Given the description of an element on the screen output the (x, y) to click on. 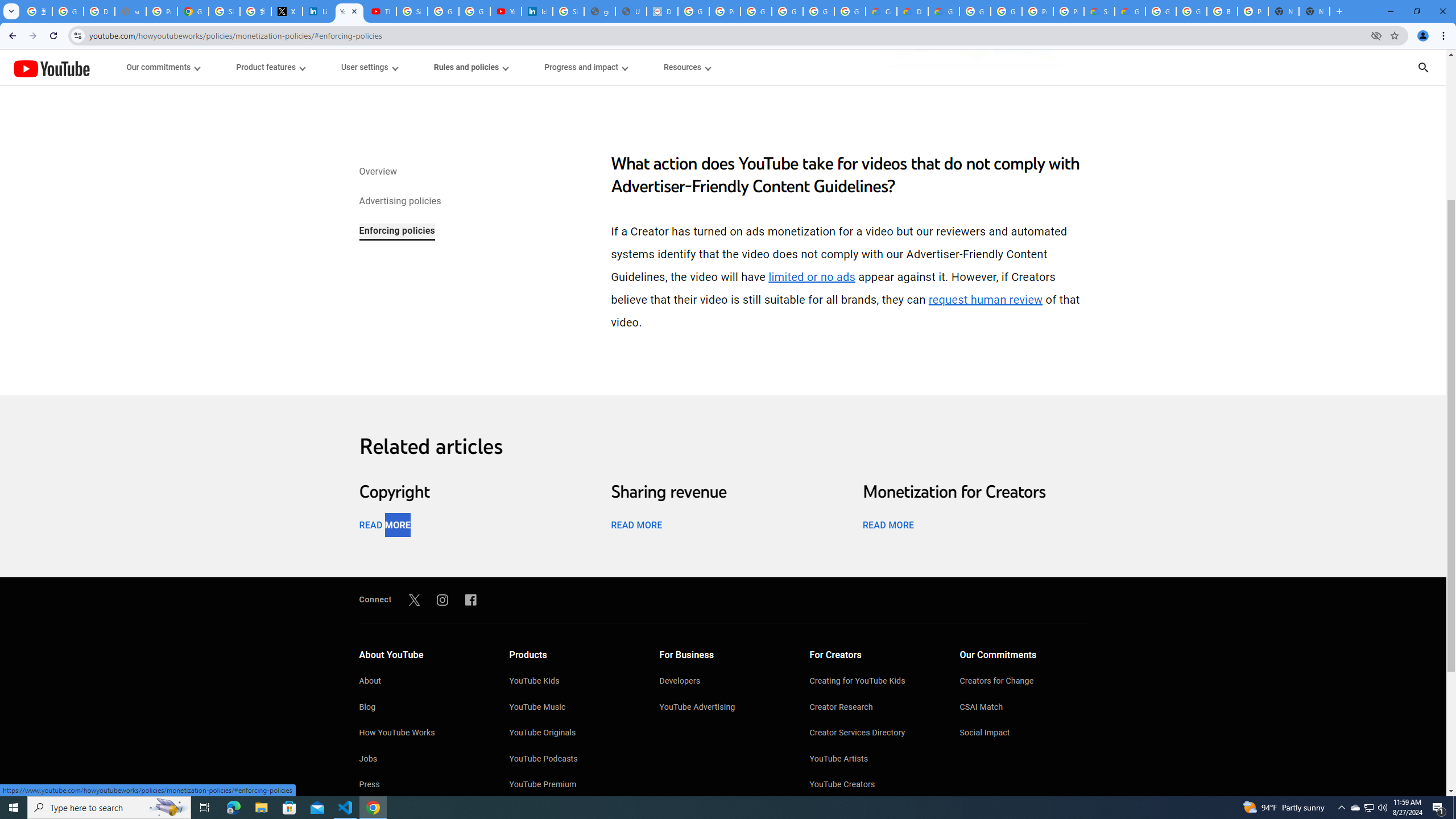
Instagram (442, 599)
Customer Care | Google Cloud (881, 11)
User settings menupopup (368, 67)
YouTube Artists (873, 759)
Resources menupopup (686, 67)
support.google.com - Network error (130, 11)
Twitter (413, 599)
Privacy Help Center - Policies Help (161, 11)
Creating for YouTube Kids (873, 682)
